Given the description of an element on the screen output the (x, y) to click on. 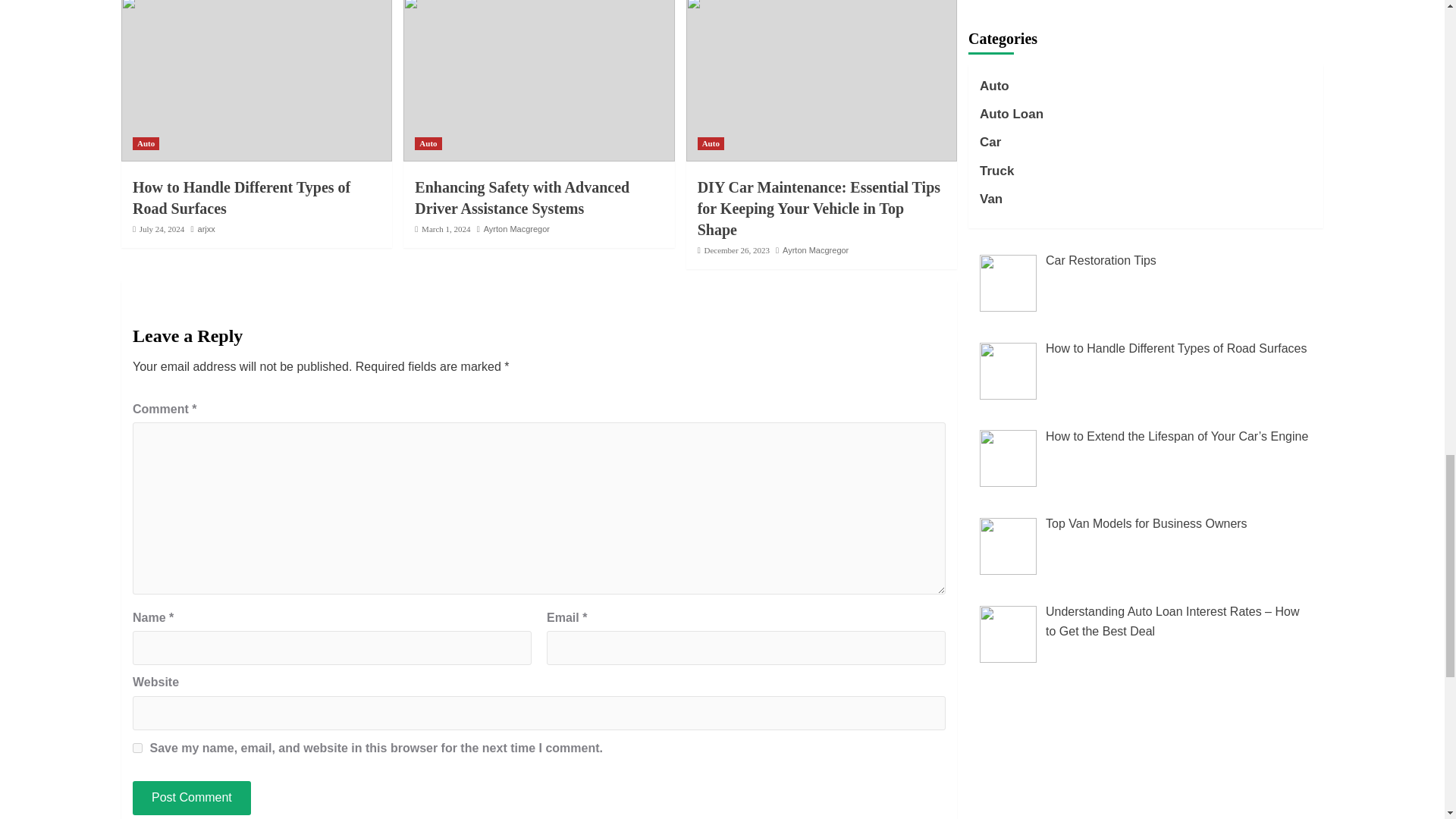
Auto (427, 143)
Ayrton Macgregor (516, 228)
arjxx (206, 228)
December 26, 2023 (735, 249)
Enhancing Safety with Advanced Driver Assistance Systems (521, 198)
yes (137, 747)
March 1, 2024 (446, 228)
Post Comment (191, 797)
Auto (710, 143)
Ayrton Macgregor (815, 249)
